Given the description of an element on the screen output the (x, y) to click on. 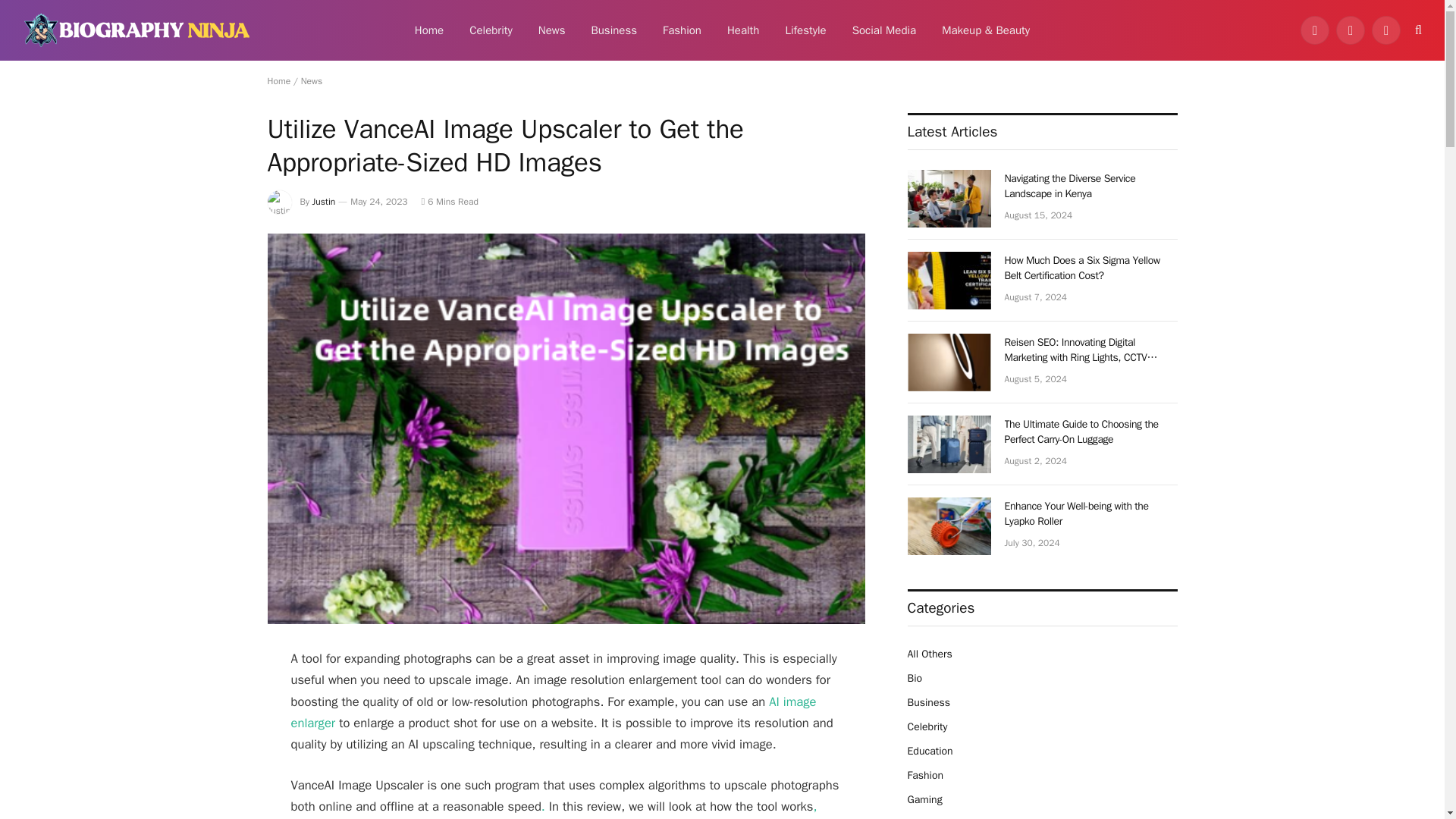
Social Media (884, 30)
Posts by Justin (324, 201)
Instagram (1385, 30)
Justin (324, 201)
Lifestyle (804, 30)
Celebrity (491, 30)
BiographyNinja (136, 29)
News (312, 80)
AI image enlarger (553, 712)
